Given the description of an element on the screen output the (x, y) to click on. 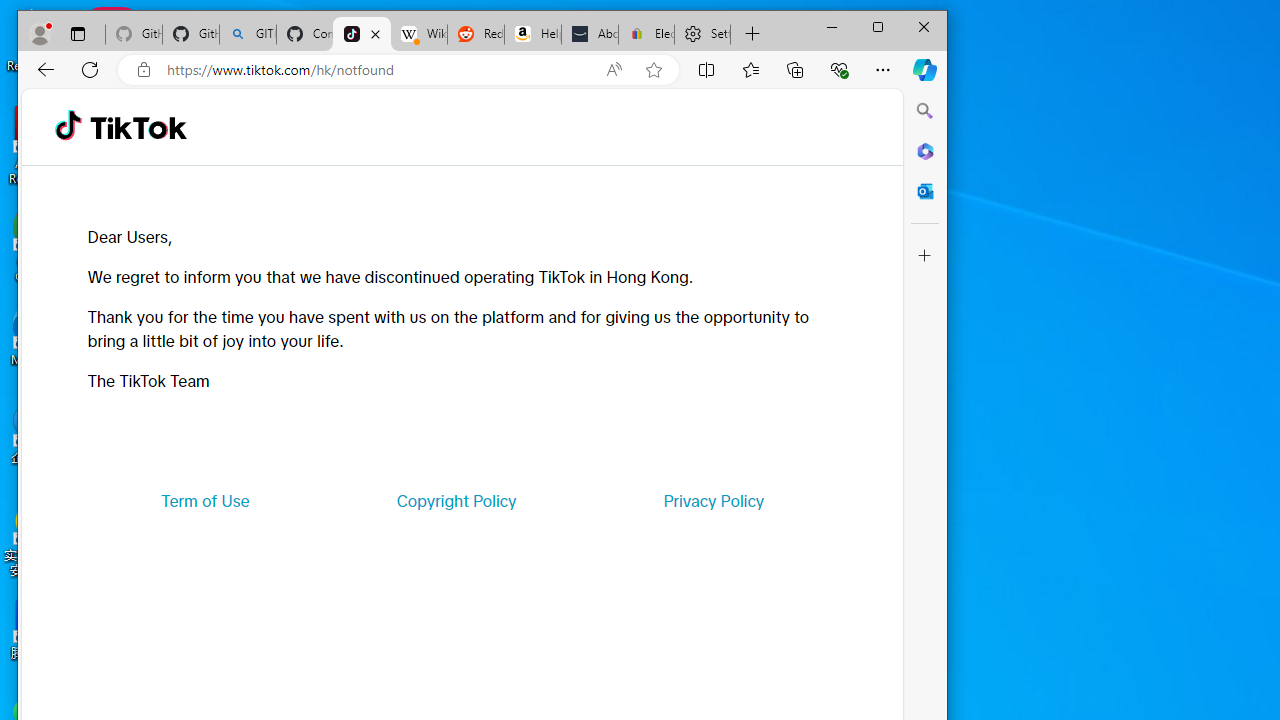
GITHUB - Search (248, 34)
Term of Use (205, 500)
